Given the description of an element on the screen output the (x, y) to click on. 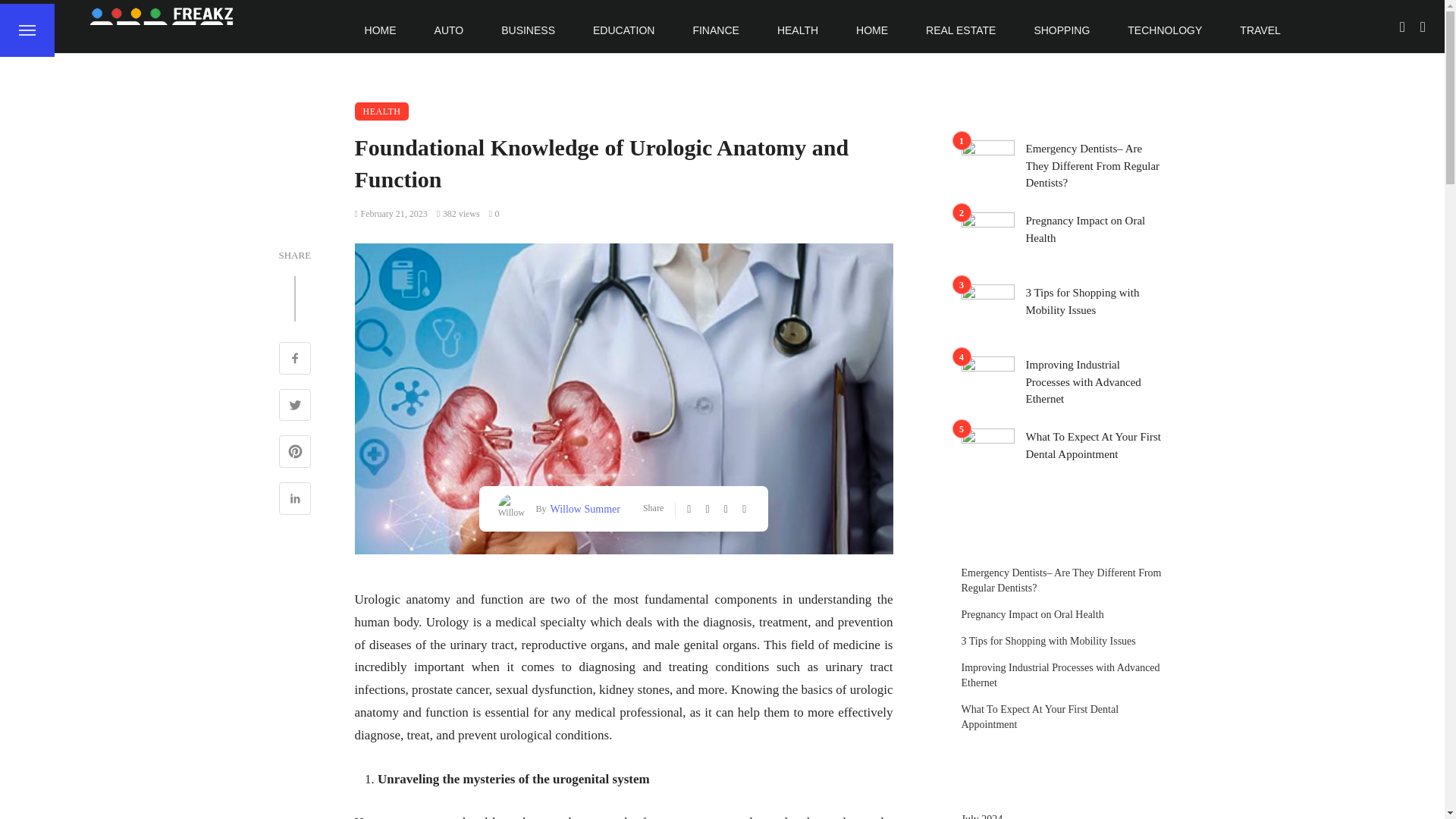
0 Comments (494, 213)
Share on Facebook (295, 360)
EDUCATION (622, 30)
Share on Pinterest (295, 452)
TECHNOLOGY (1164, 30)
HEALTH (382, 111)
0 (494, 213)
BUSINESS (527, 30)
Share on Twitter (295, 407)
SHOPPING (1061, 30)
Posts by Willow Summer (583, 508)
February 21, 2023 at 5:46 am (391, 213)
HOME (380, 30)
REAL ESTATE (960, 30)
HEALTH (797, 30)
